Given the description of an element on the screen output the (x, y) to click on. 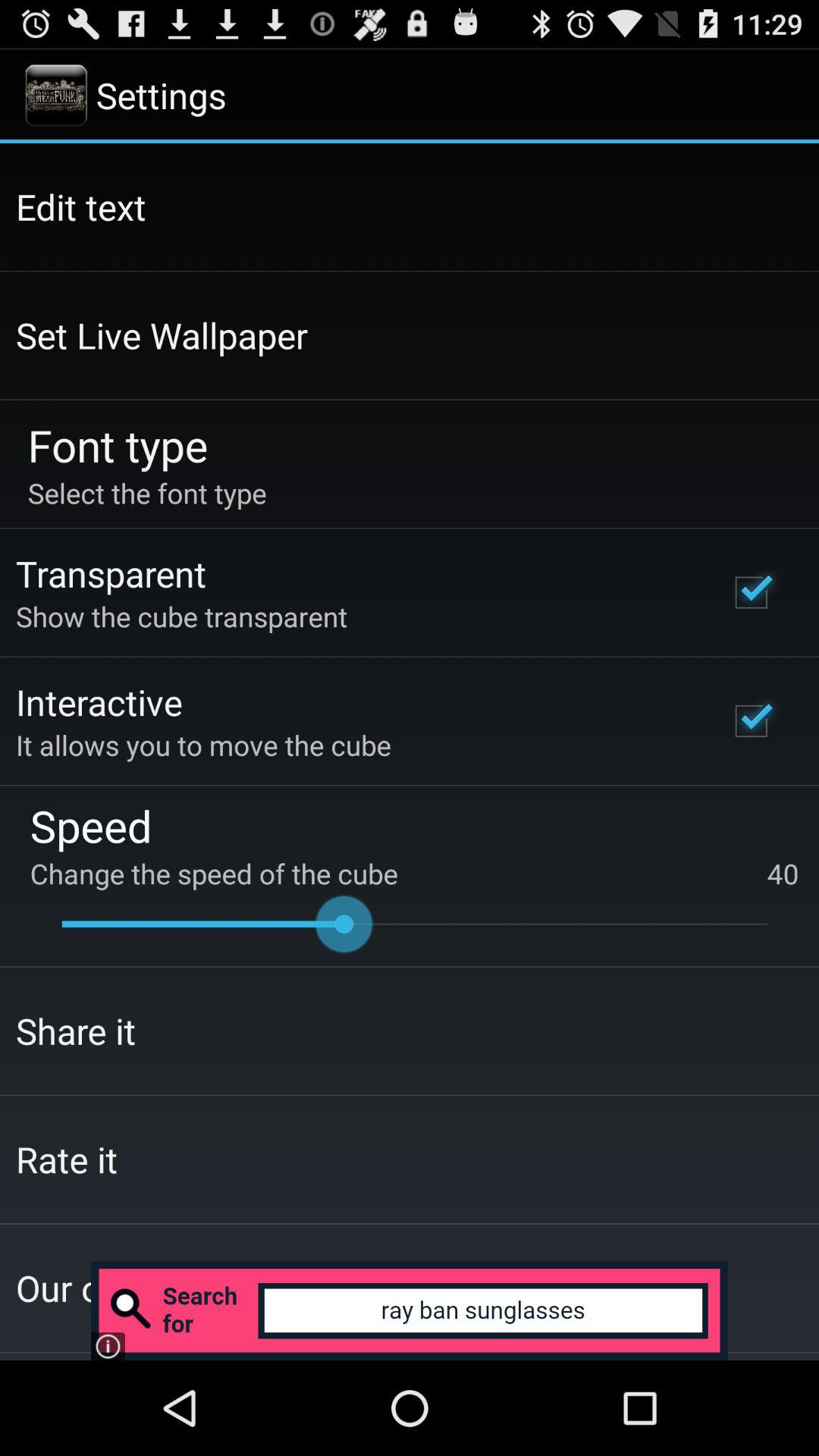
swipe to 40 icon (783, 873)
